Given the description of an element on the screen output the (x, y) to click on. 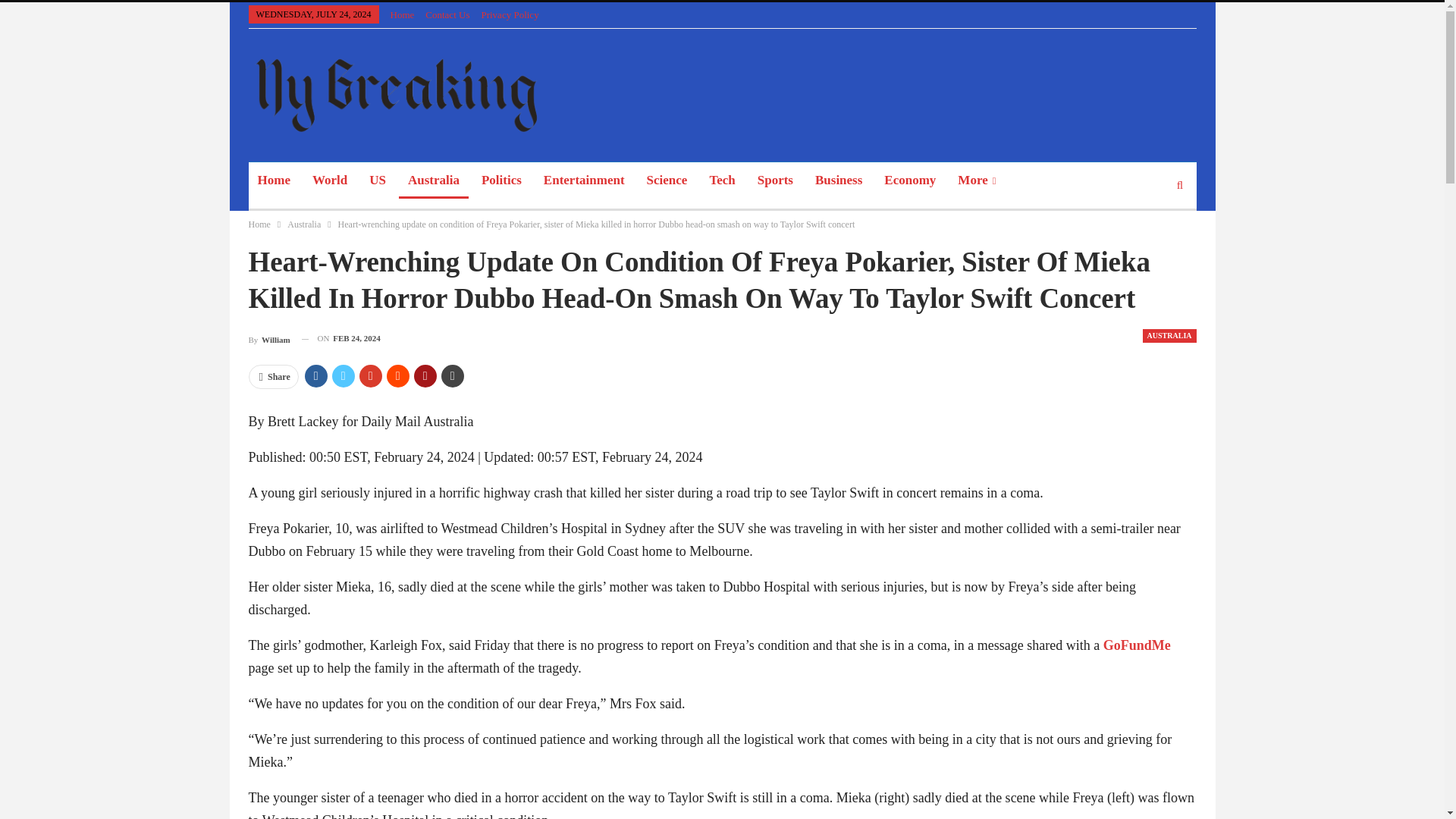
Browse Author Articles (268, 338)
Home (402, 14)
Home (273, 180)
Economy (909, 180)
GoFundMe (1136, 645)
Entertainment (583, 180)
More (976, 180)
By William (268, 338)
Tech (722, 180)
Privacy Policy (509, 14)
Science (667, 180)
Home (259, 224)
Sports (775, 180)
AUSTRALIA (1169, 336)
Contact Us (446, 14)
